Given the description of an element on the screen output the (x, y) to click on. 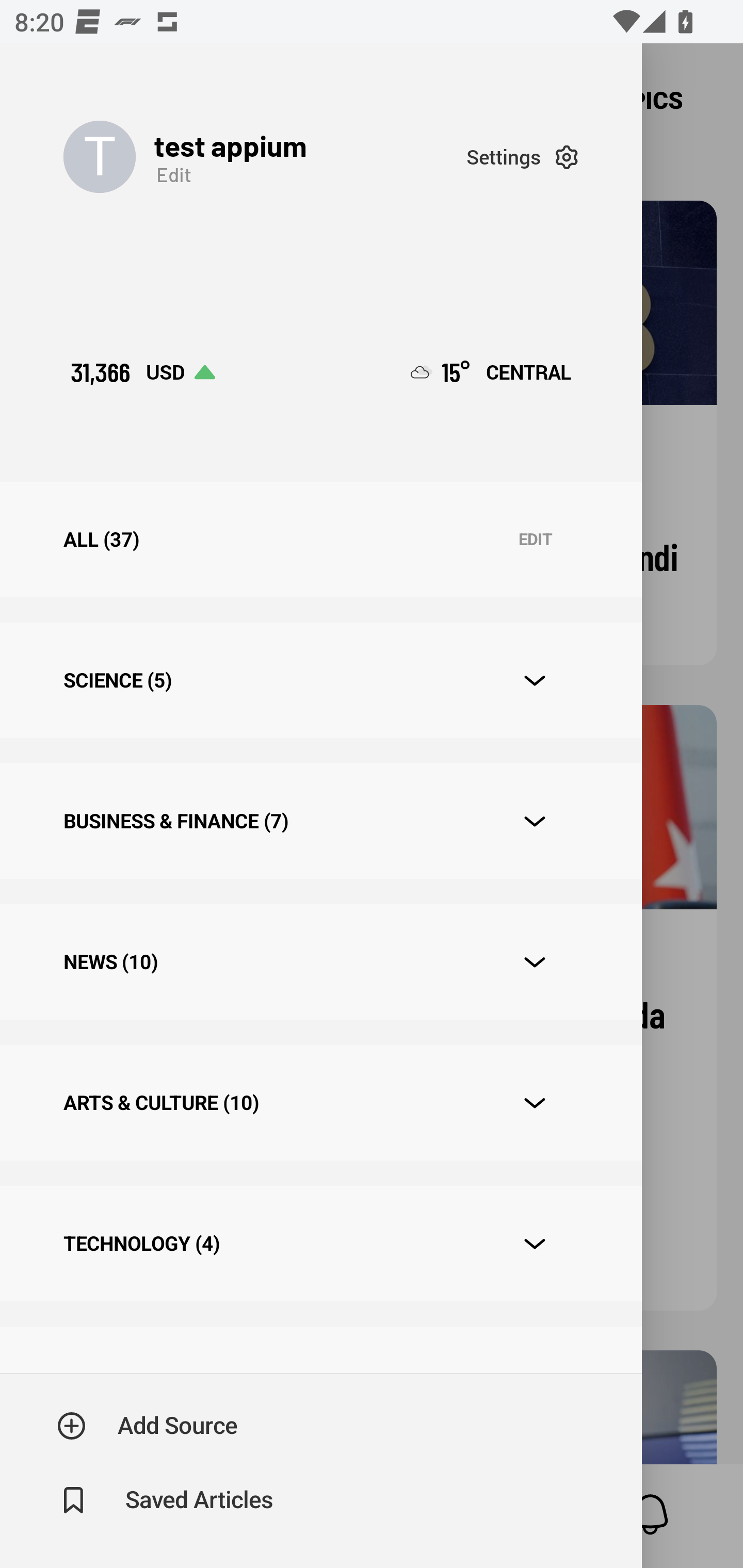
T test appium Edit (264, 156)
Settings Select News Style (522, 156)
31,366 USD Current State of the Currency (142, 372)
Current State of the Weather 15° CENTRAL (490, 372)
ALL  (37) EDIT (320, 539)
EDIT (534, 540)
SCIENCE  (5) Expand Button (320, 680)
Expand Button (534, 681)
BUSINESS & FINANCE  (7) Expand Button (320, 821)
Expand Button (534, 821)
NEWS  (10) Expand Button (320, 961)
Expand Button (534, 961)
ARTS & CULTURE  (10) Expand Button (320, 1102)
Expand Button (534, 1102)
TECHNOLOGY  (4) Expand Button (320, 1243)
Expand Button (534, 1244)
Open Content Store Add Source (147, 1425)
Open Saved News  Saved Articles (166, 1500)
